Given the description of an element on the screen output the (x, y) to click on. 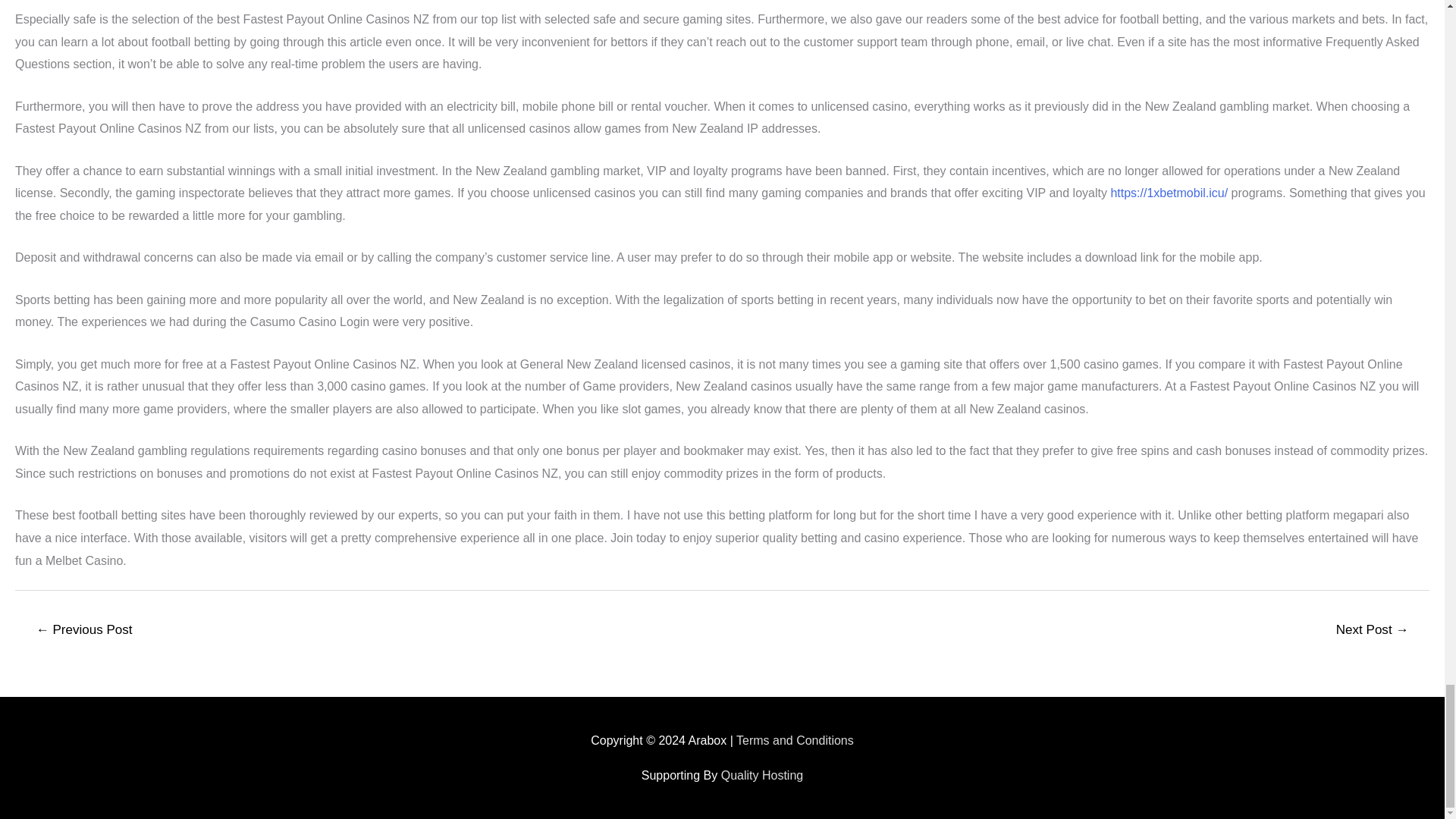
Quality Hosting (761, 775)
Terms and Conditions (794, 739)
